Given the description of an element on the screen output the (x, y) to click on. 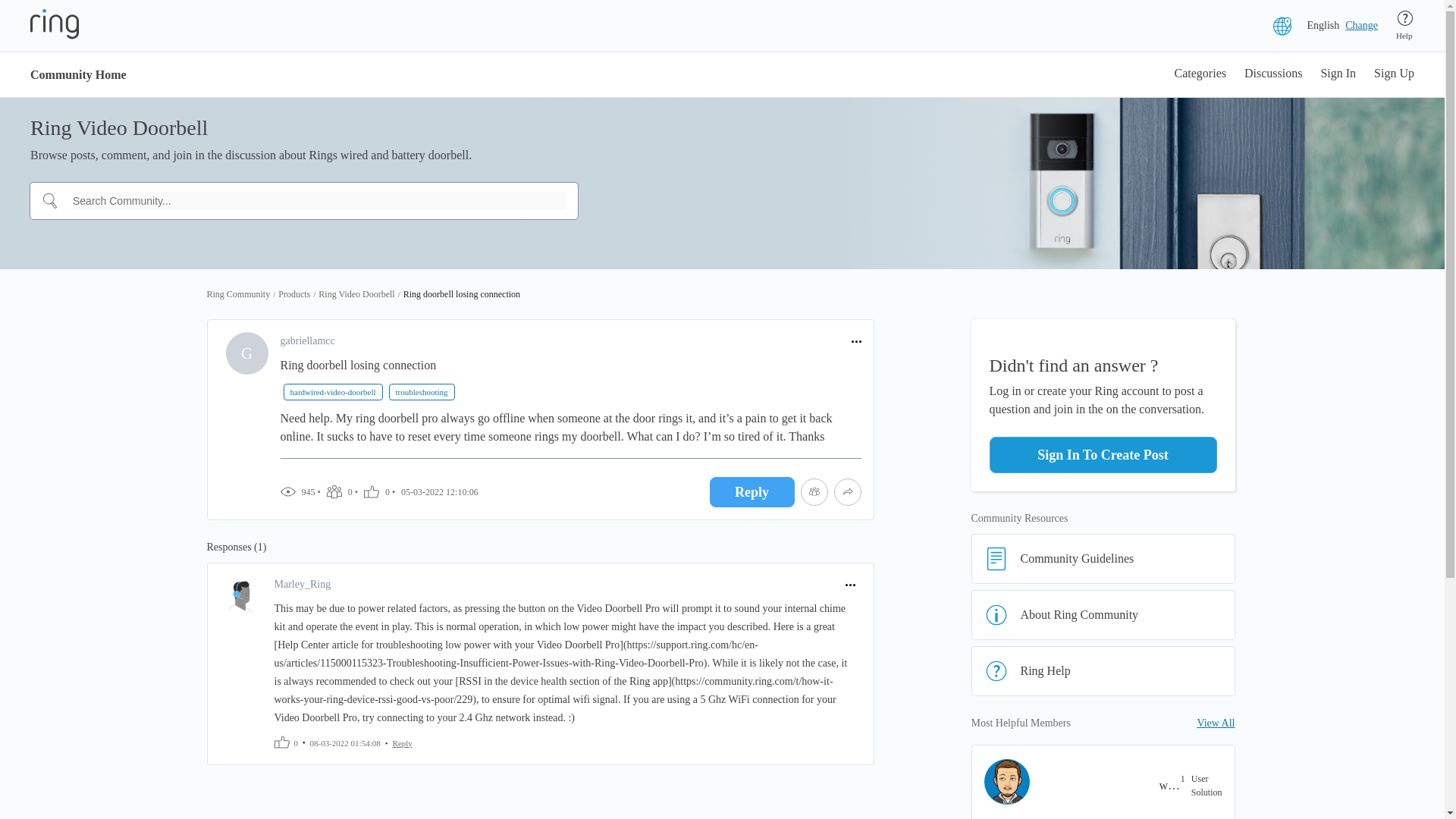
View All (1215, 723)
Change (1361, 25)
Products (294, 294)
Community Guidelines (1102, 558)
windracer (1168, 785)
Categories (1199, 74)
About Ring Community (1102, 614)
gabriellamcc (307, 341)
Reply (752, 491)
Discussions (1272, 74)
Reply (402, 742)
Ring Community (237, 294)
Ring Video Doorbell (356, 294)
Sign Up (1393, 74)
Sign In To Create Post (1101, 454)
